Given the description of an element on the screen output the (x, y) to click on. 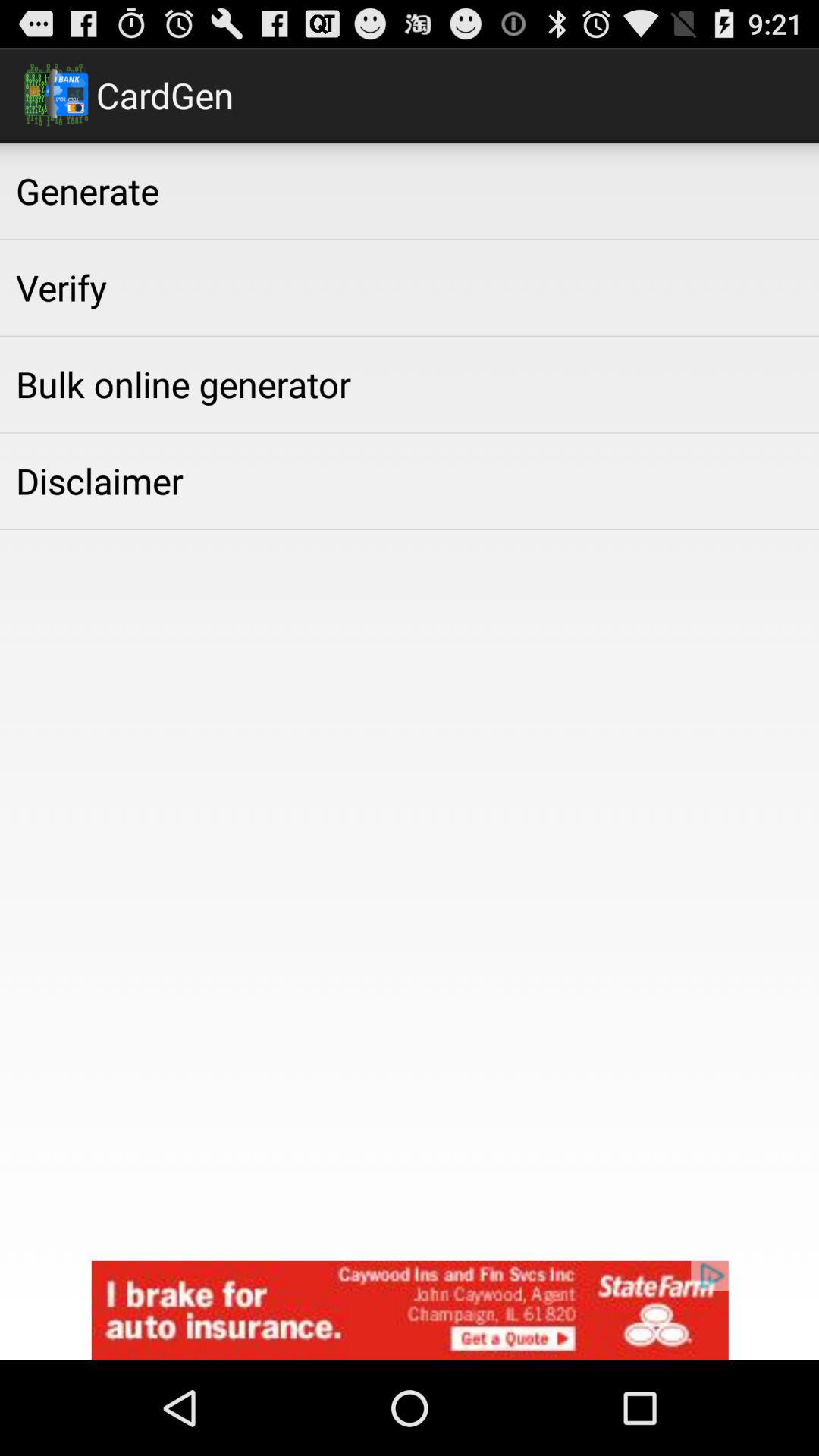
open advertisement (409, 1310)
